Given the description of an element on the screen output the (x, y) to click on. 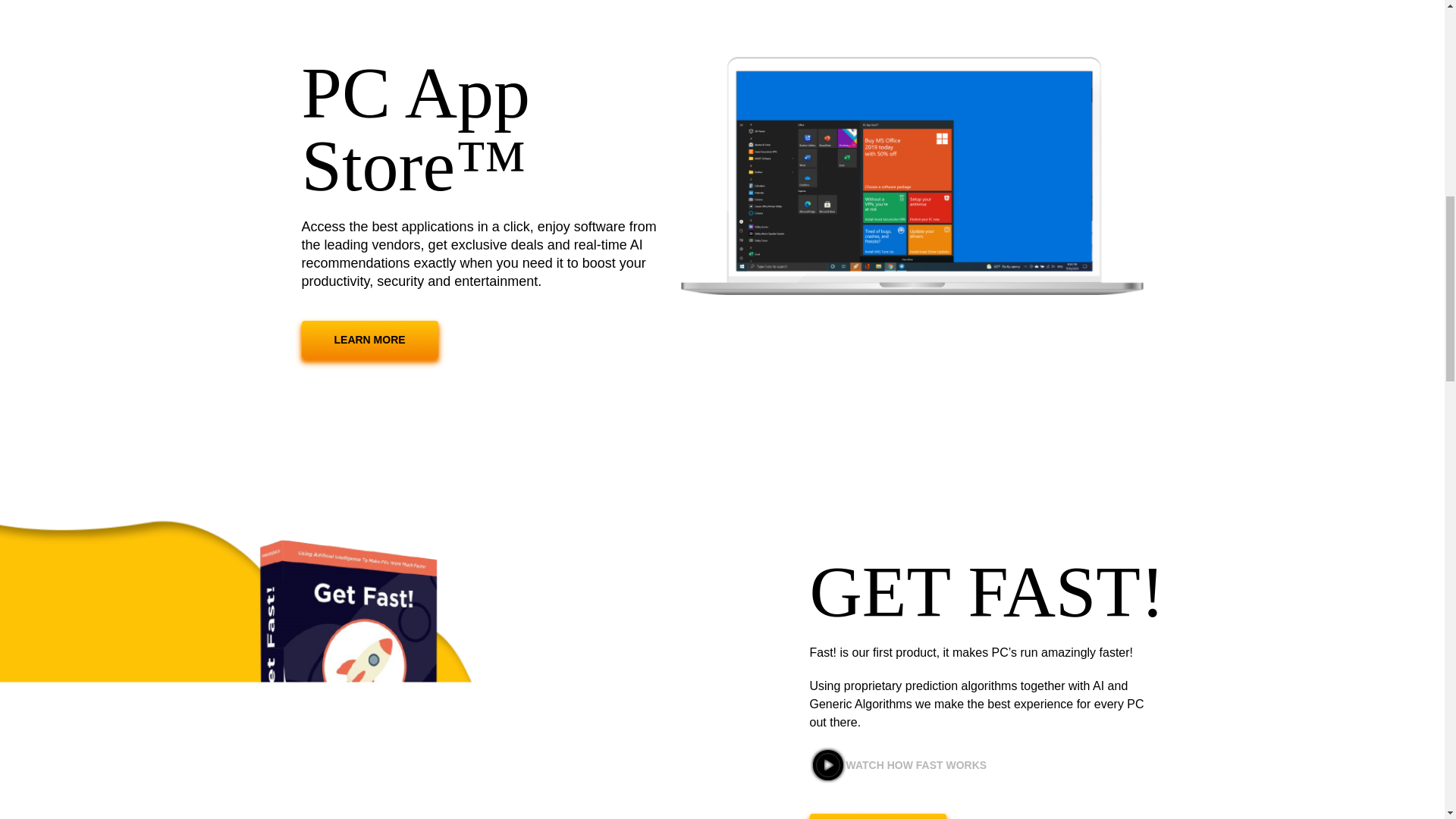
WATCH HOW FAST WORKS (898, 764)
LEARN MORE (877, 816)
LEARN MORE (369, 338)
